Given the description of an element on the screen output the (x, y) to click on. 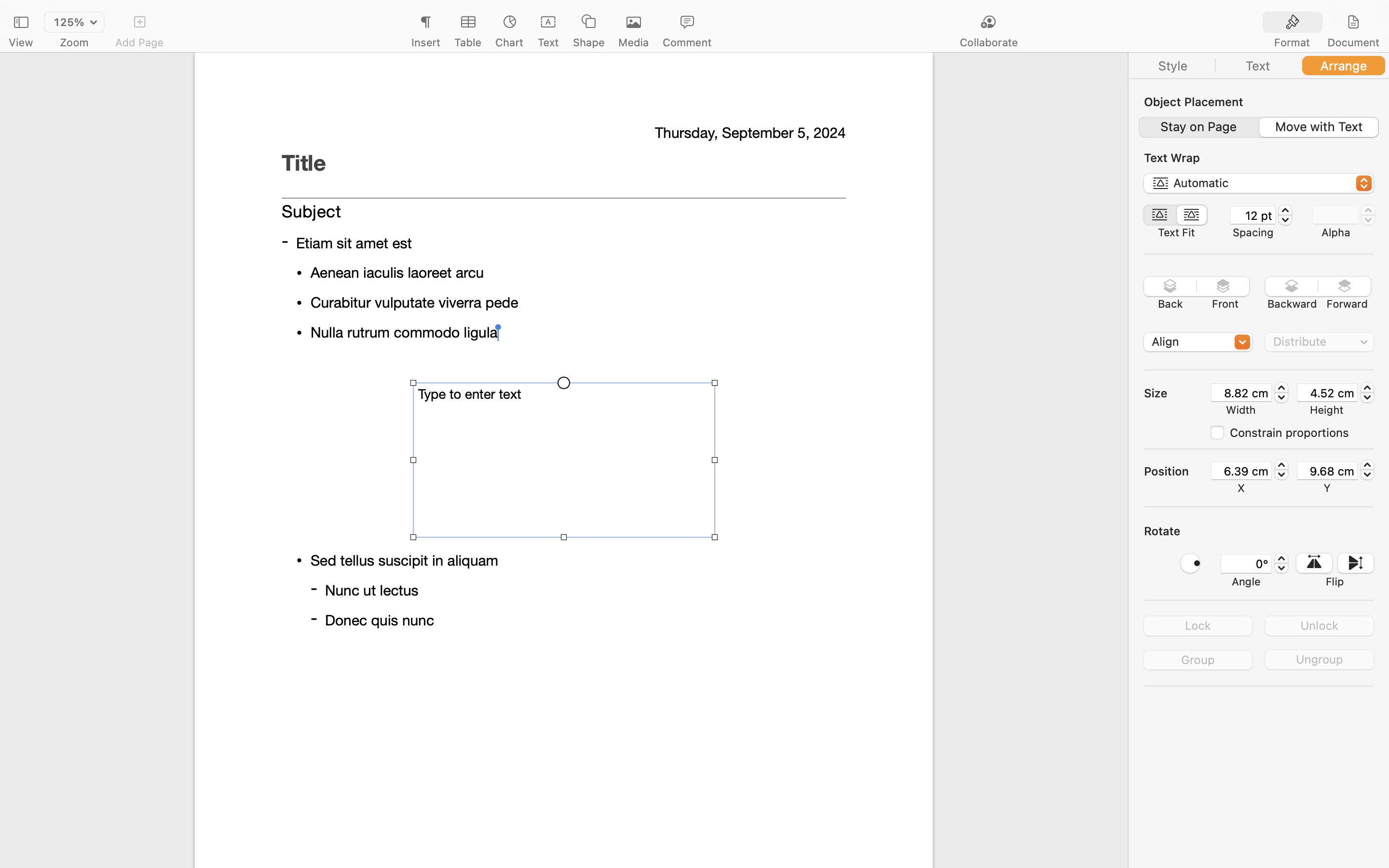
0.0 Element type: AXIncrementor (1368, 214)
128.0 Element type: AXIncrementor (1367, 392)
6.39 cm Element type: AXTextField (1241, 470)
Untitled Element type: AXStaticText (667, 12)
0° Element type: AXTextField (1246, 563)
